Given the description of an element on the screen output the (x, y) to click on. 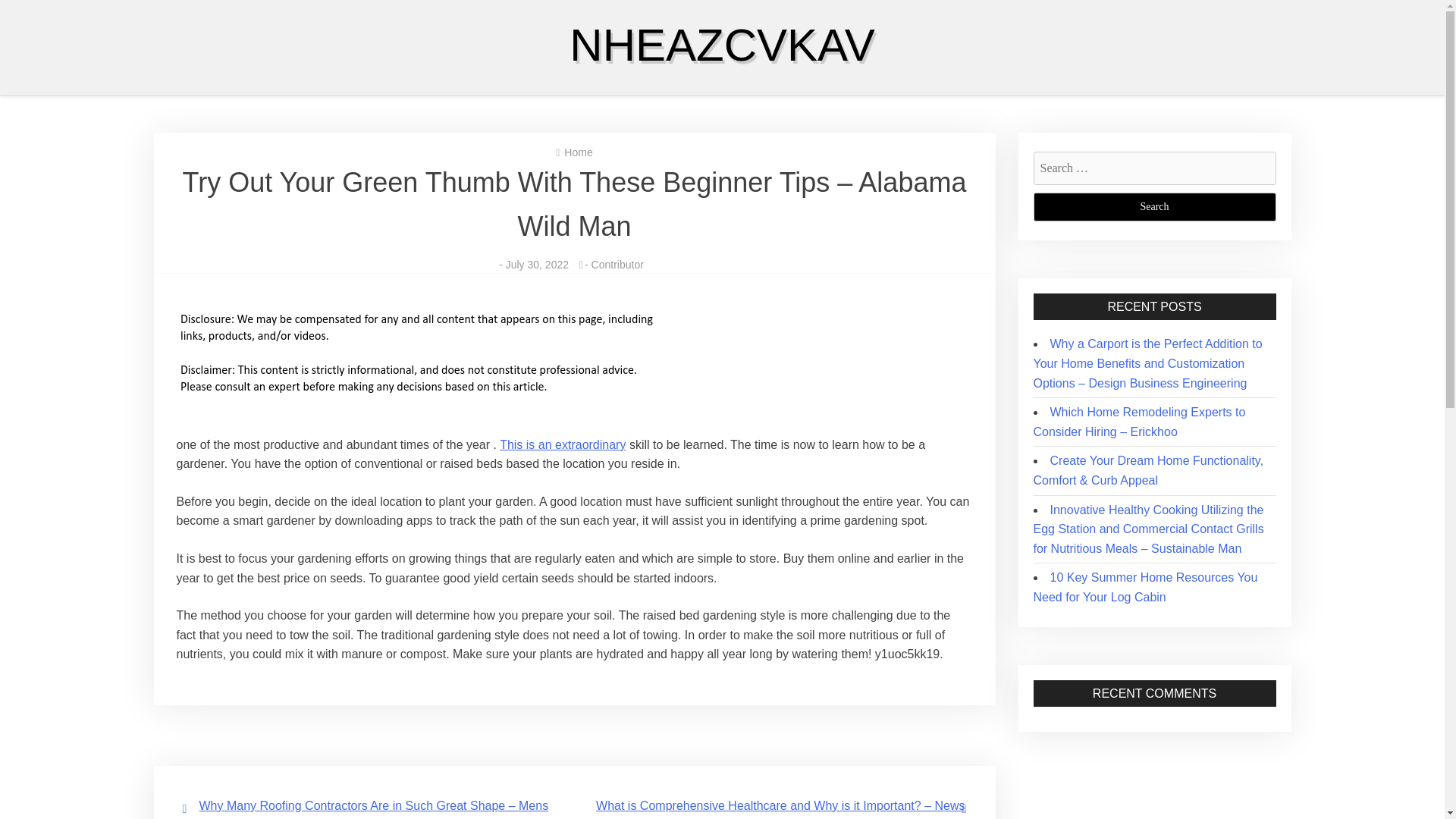
Search (1153, 206)
Contributor (617, 264)
10 Key Summer Home Resources You Need for Your Log Cabin (1144, 586)
This is an extraordinary (562, 444)
NHEAZCVKAV (722, 44)
Search (1153, 206)
Search (1153, 206)
July 30, 2022 (537, 264)
Home (578, 152)
